Given the description of an element on the screen output the (x, y) to click on. 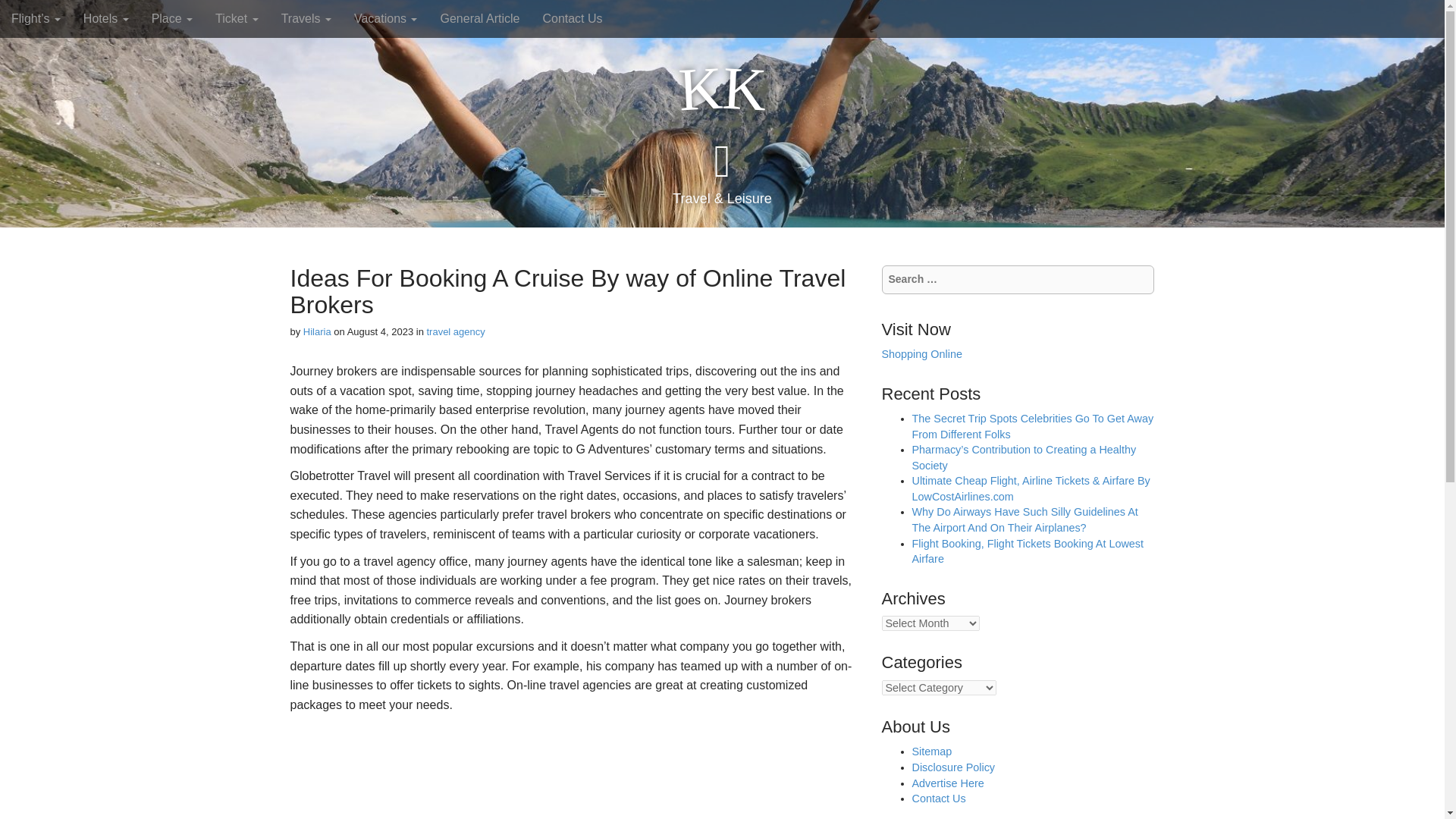
Travels (305, 18)
August 4, 2023 (380, 331)
Hilaria (316, 331)
Contact Us (571, 18)
Vacations (385, 18)
Posts by Hilaria (316, 331)
Place (171, 18)
travel agency (455, 331)
Hotels (105, 18)
Ticket (236, 18)
